Given the description of an element on the screen output the (x, y) to click on. 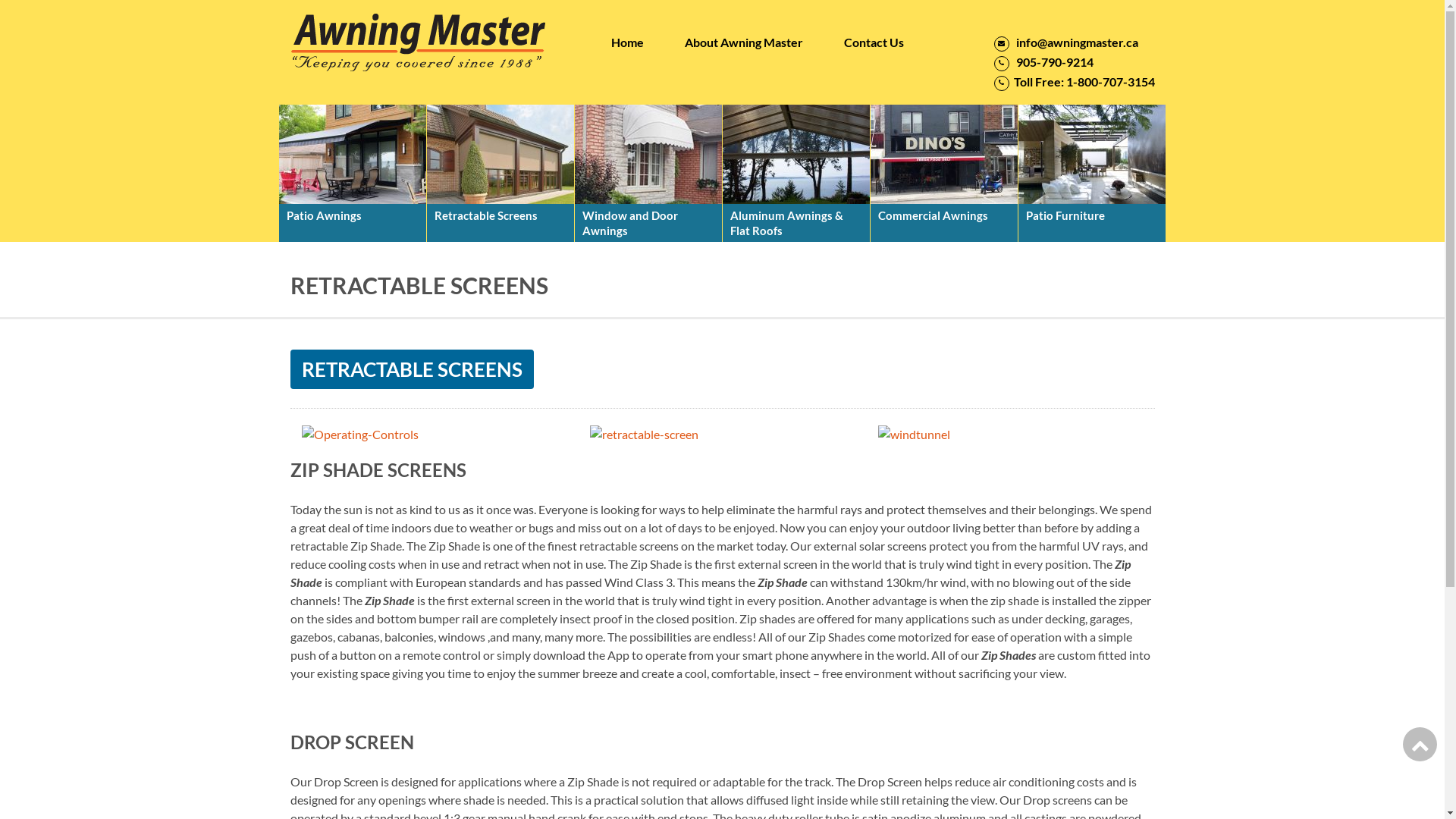
Awning Master Element type: hover (419, 42)
Home Element type: text (627, 43)
Patio Awnings Element type: text (352, 172)
Retractable Screens Element type: text (499, 172)
Toll Free: 1-800-707-3154 Element type: text (1073, 81)
Aluminum Awnings & Flat Roofs Element type: text (795, 172)
Commercial Awnings Element type: text (943, 172)
Window and Door Awnings Element type: text (647, 172)
Patio Furniture Element type: text (1090, 172)
Contact Us Element type: text (872, 43)
info@awningmaster.ca Element type: text (1065, 41)
About Awning Master Element type: text (742, 43)
905-790-9214 Element type: text (1042, 61)
